Given the description of an element on the screen output the (x, y) to click on. 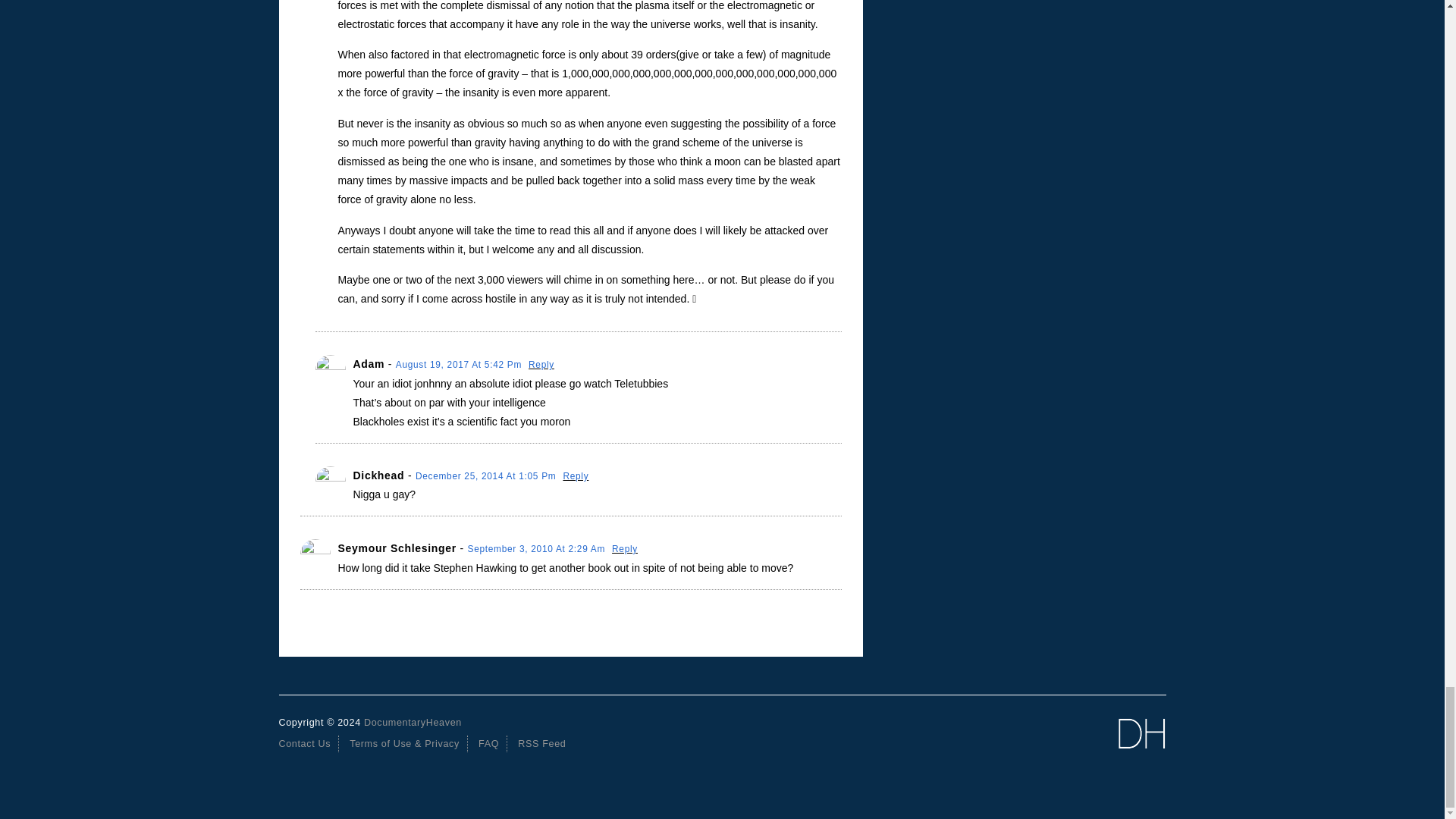
Reply (541, 364)
August 19, 2017 At 5:42 Pm (460, 364)
